Given the description of an element on the screen output the (x, y) to click on. 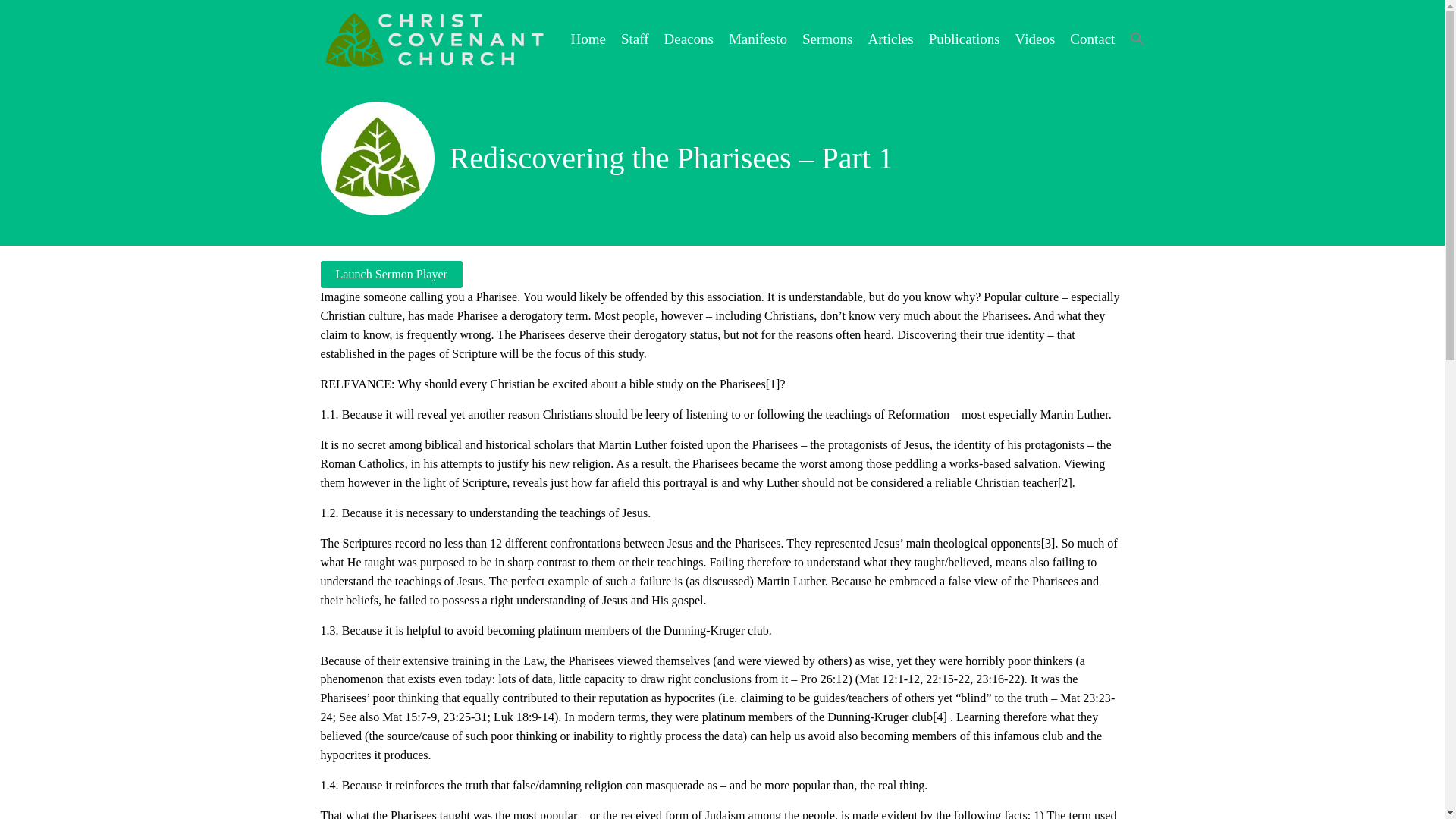
Launch Sermon Player (390, 274)
Deacons (688, 38)
Sermons (827, 38)
Publications (964, 38)
Staff (635, 38)
Home (587, 38)
Christ Covenant Church (433, 39)
Videos (1034, 38)
Manifesto (758, 38)
Contact (1092, 38)
Articles (889, 38)
